Given the description of an element on the screen output the (x, y) to click on. 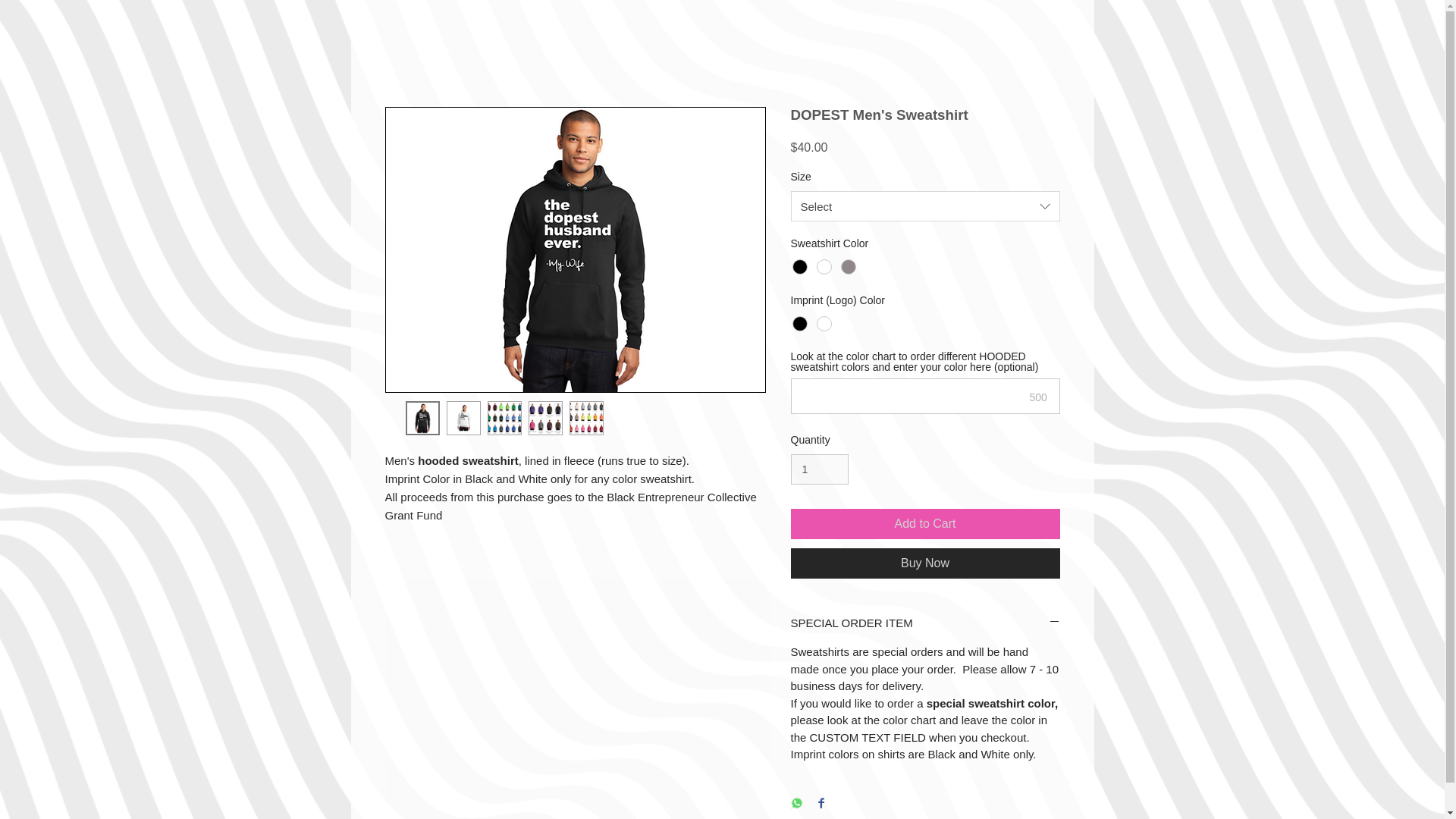
Add to Cart (924, 523)
Select (924, 205)
Buy Now (924, 562)
SPECIAL ORDER ITEM (924, 622)
1 (818, 469)
